Given the description of an element on the screen output the (x, y) to click on. 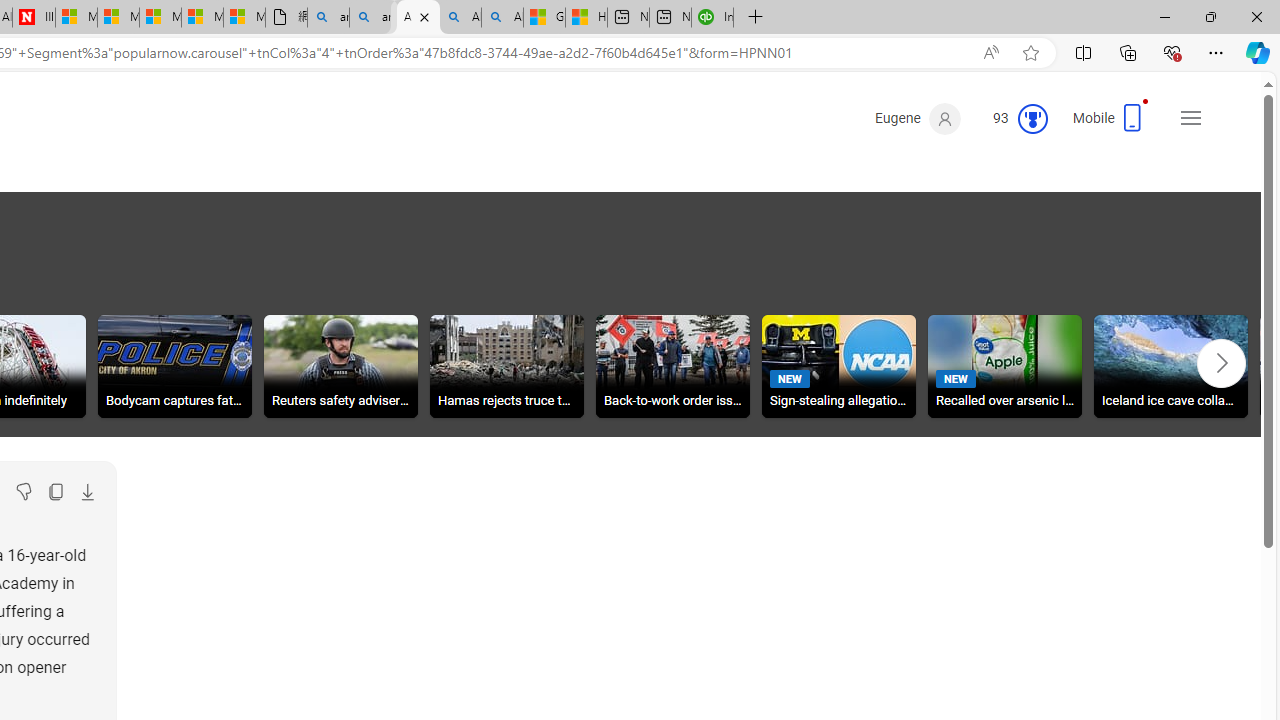
How to Use a TV as a Computer Monitor (538, 17)
amazon - Search (328, 17)
Alabama high school quarterback dies - Search Videos (453, 17)
Export (87, 491)
amazon - Search Videos (369, 17)
